Given the description of an element on the screen output the (x, y) to click on. 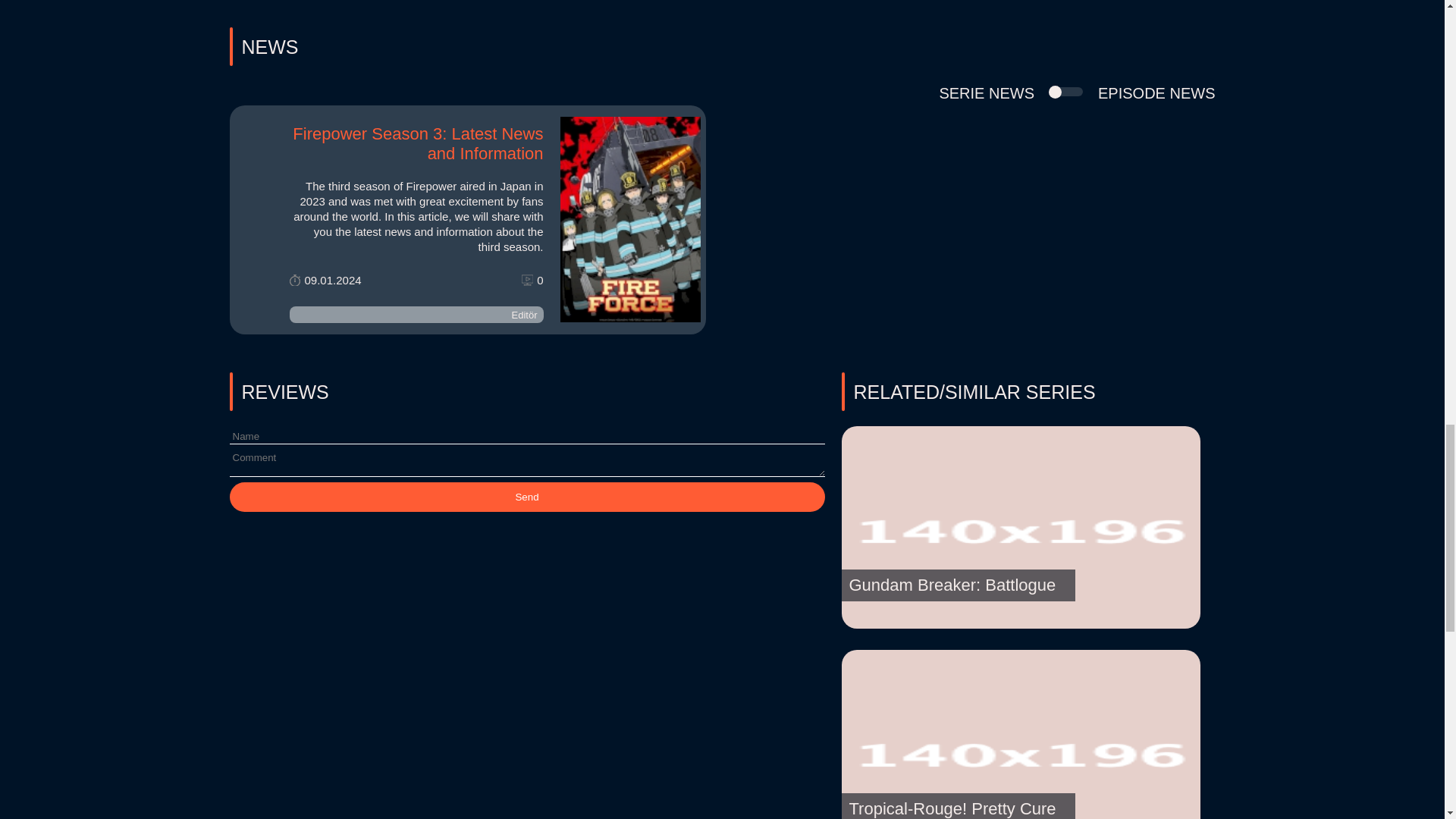
Firepower Season 3: Latest News and Information (417, 143)
Send (526, 496)
